Given the description of an element on the screen output the (x, y) to click on. 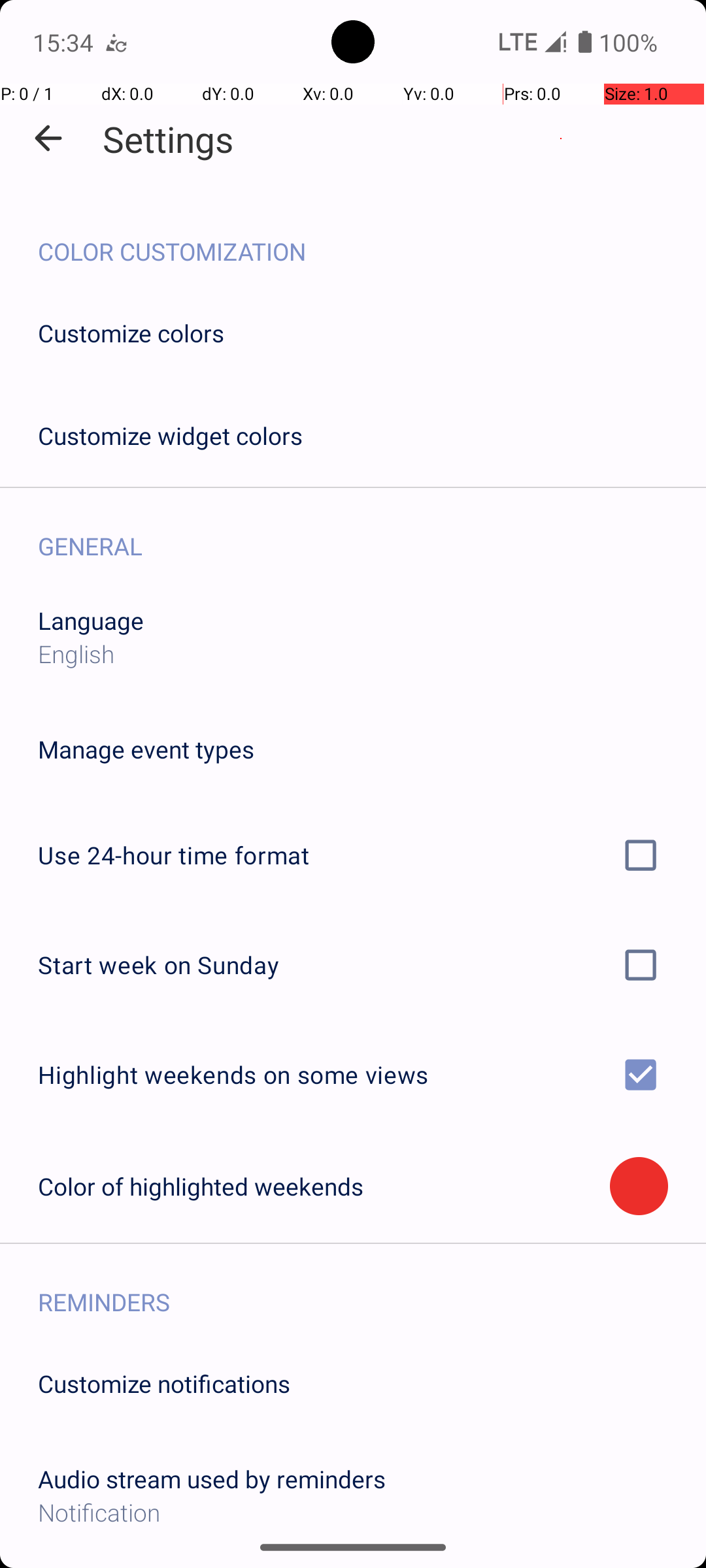
Color of highlighted weekends Element type: android.widget.TextView (323, 1186)
